Given the description of an element on the screen output the (x, y) to click on. 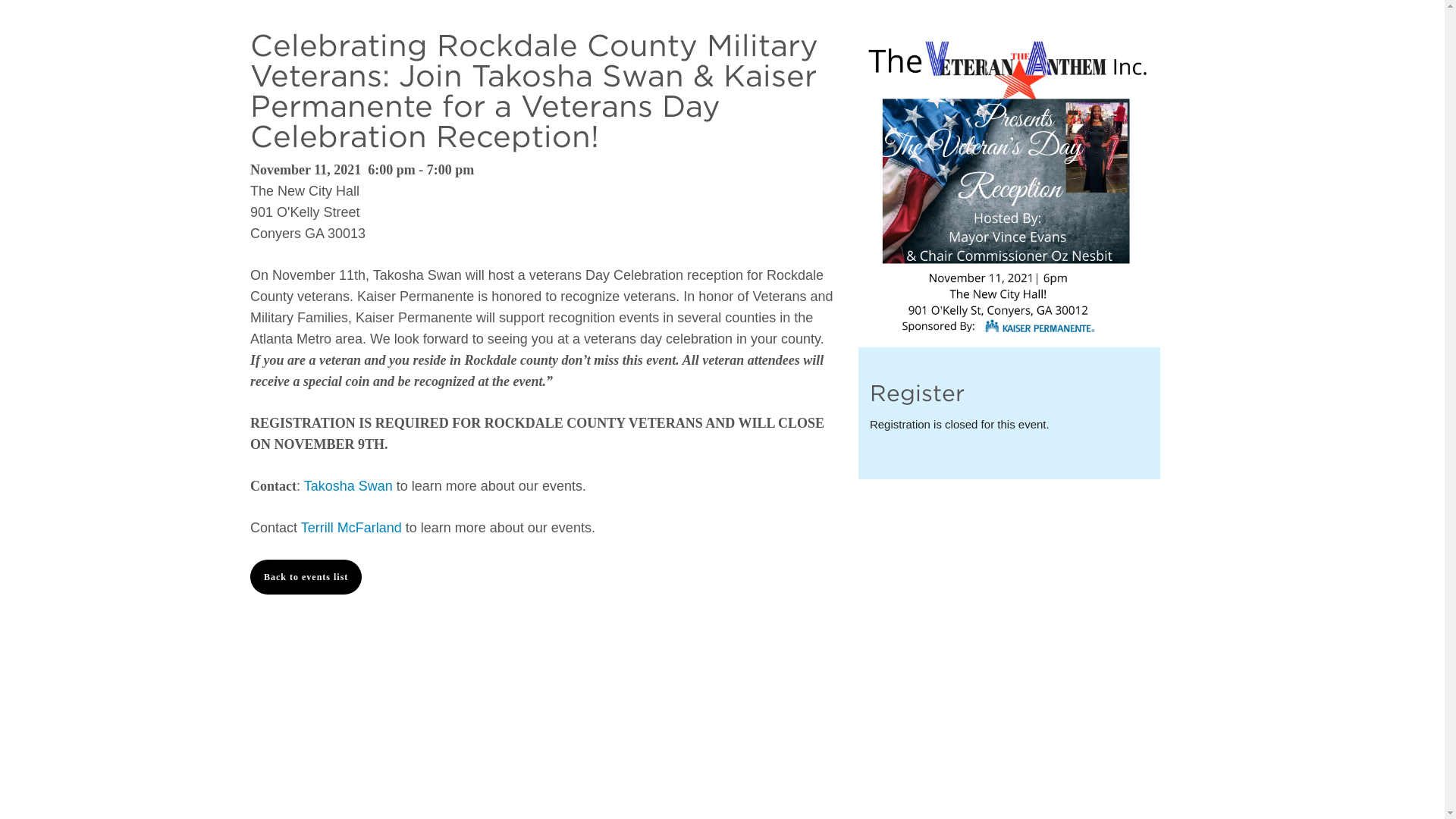
Back to events list (305, 576)
Takosha Swan (348, 485)
Terrill McFarland (351, 527)
